Given the description of an element on the screen output the (x, y) to click on. 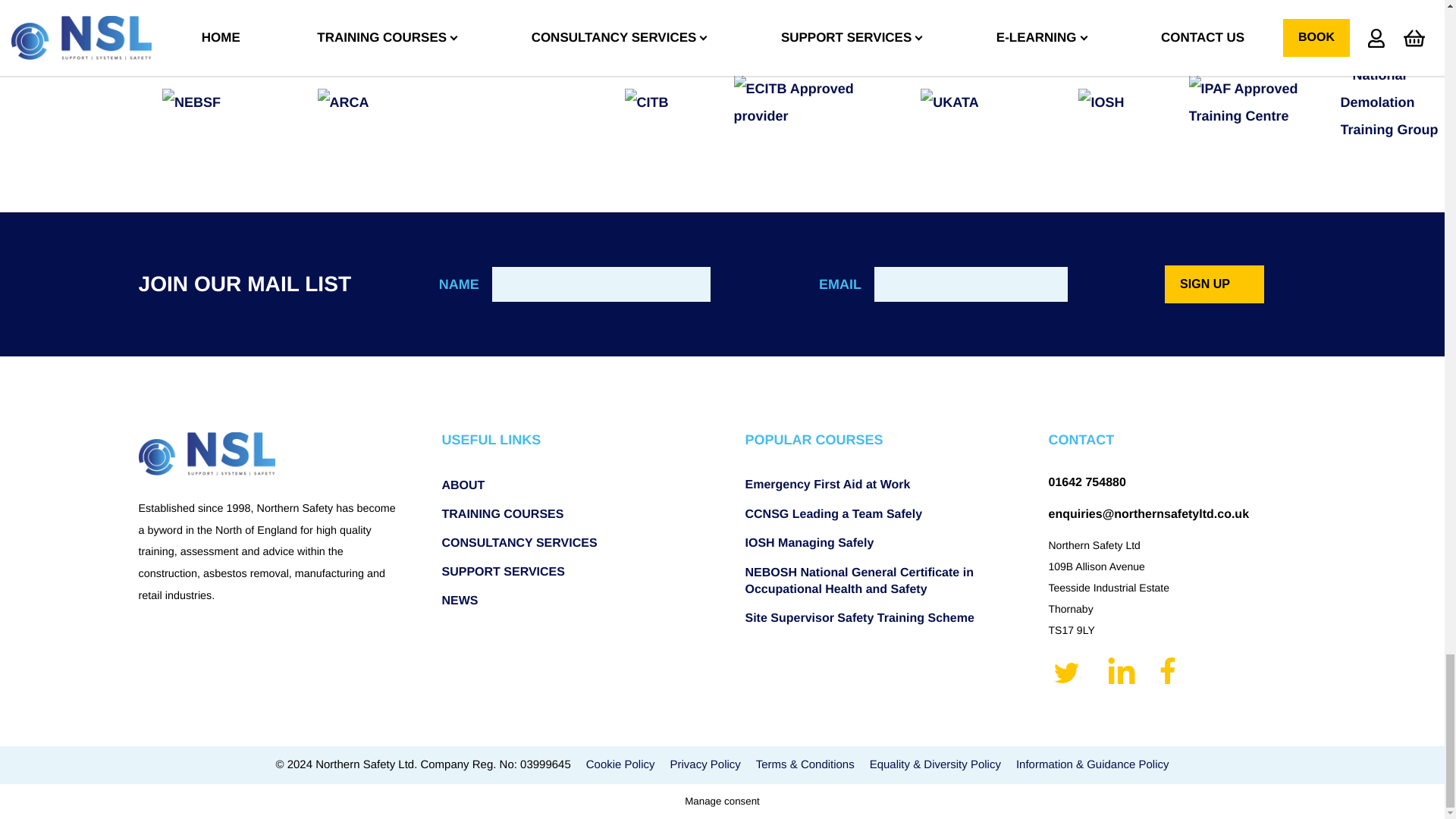
Twitter (1068, 671)
LinkedIn (1120, 671)
Sign up (1213, 284)
